Given the description of an element on the screen output the (x, y) to click on. 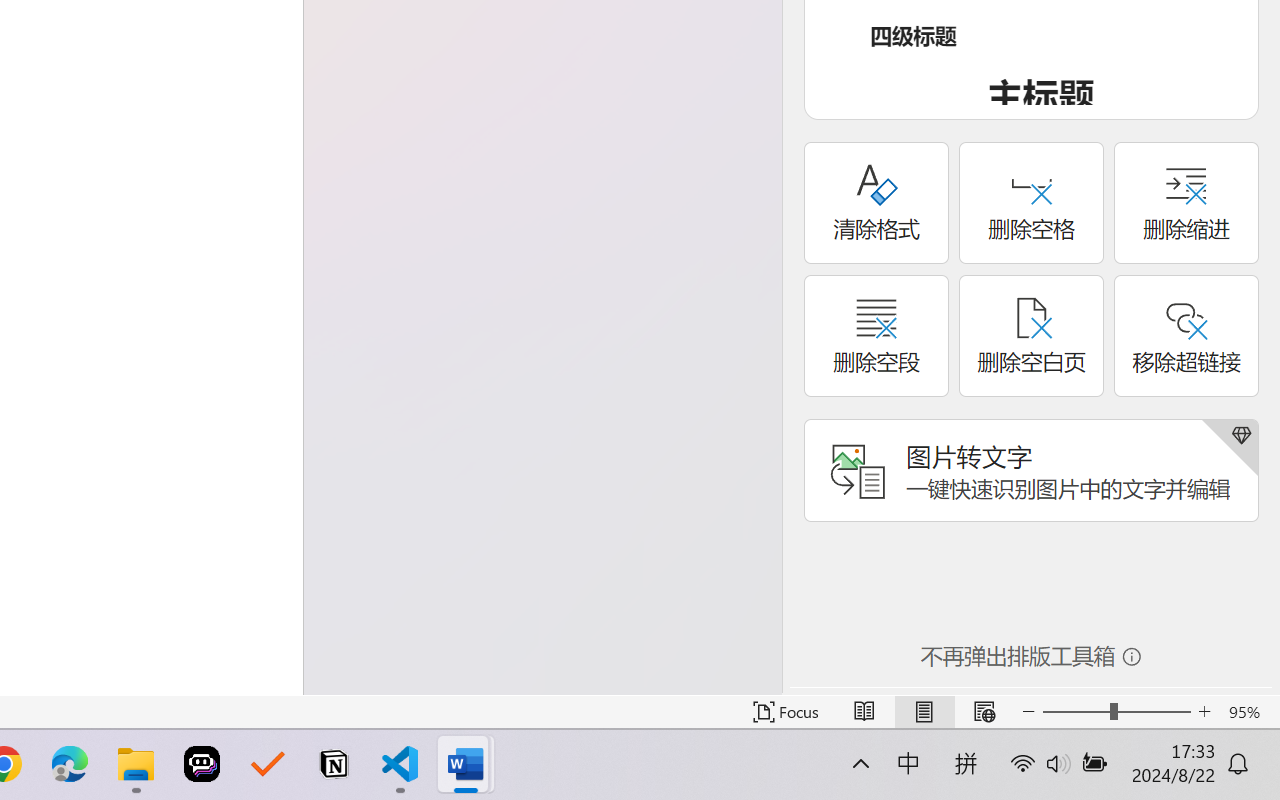
Zoom 95% (1249, 712)
